Given the description of an element on the screen output the (x, y) to click on. 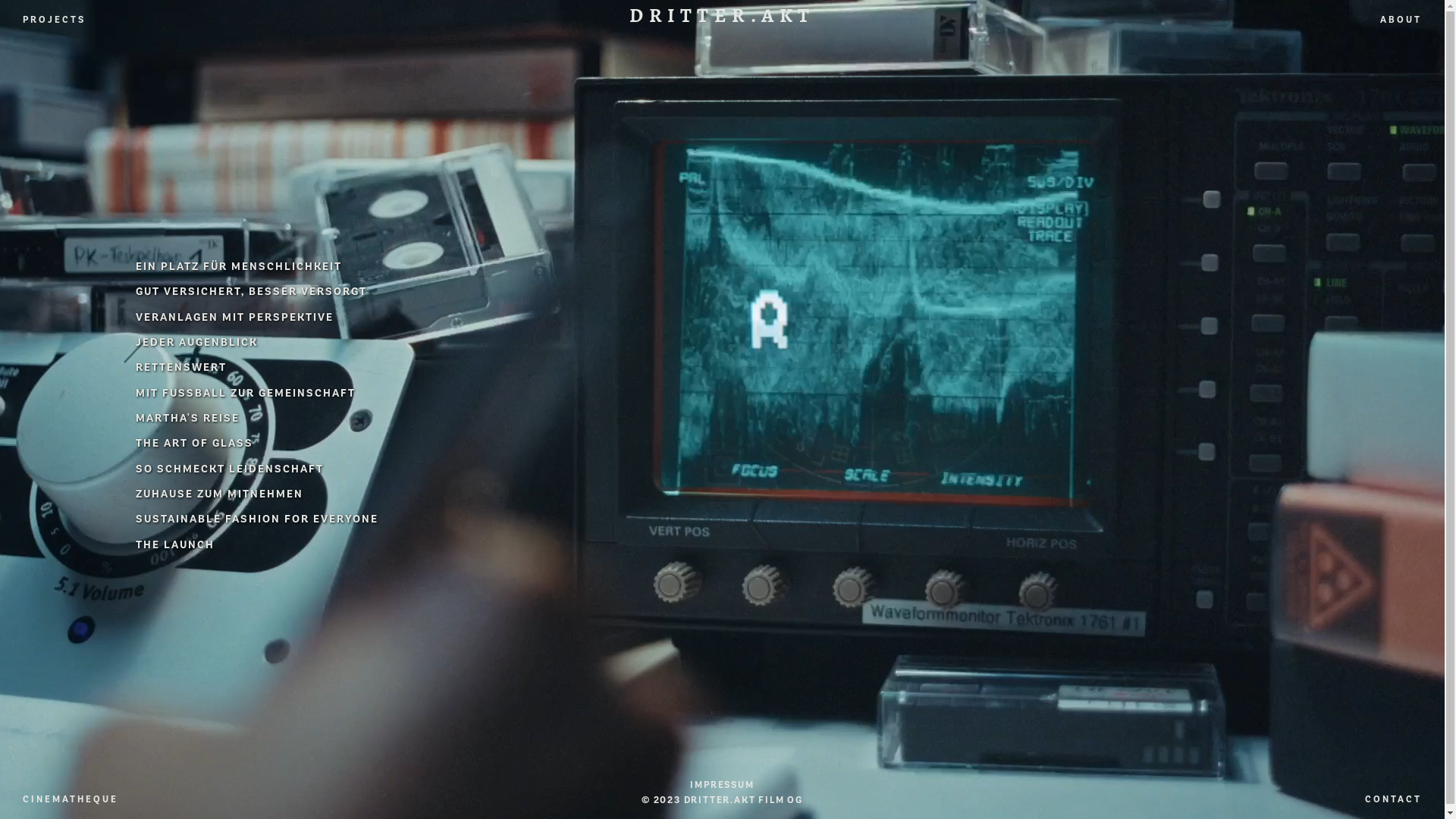
SO SCHMECKT LEIDENSCHAFT Element type: text (229, 468)
ZUHAUSE ZUM MITNEHMEN Element type: text (219, 493)
PROJECTS Element type: text (53, 19)
GUT VERSICHERT, BESSER VERSORGT Element type: text (251, 291)
MARTHA'S REISE Element type: text (187, 417)
SUSTAINABLE FASHION FOR EVERYONE Element type: text (256, 518)
CINEMATHEQUE Element type: text (70, 798)
THE LAUNCH Element type: text (174, 544)
THE ART OF GLASS Element type: text (194, 442)
IMPRESSUM Element type: text (721, 784)
VERANLAGEN MIT PERSPEKTIVE Element type: text (234, 316)
JEDER AUGENBLICK Element type: text (196, 341)
CONTACT Element type: text (1393, 798)
MIT FUSSBALL ZUR GEMEINSCHAFT Element type: text (245, 392)
ABOUT Element type: text (1400, 19)
RETTENSWERT Element type: text (180, 366)
DRITTER.AKT Element type: text (722, 17)
